Given the description of an element on the screen output the (x, y) to click on. 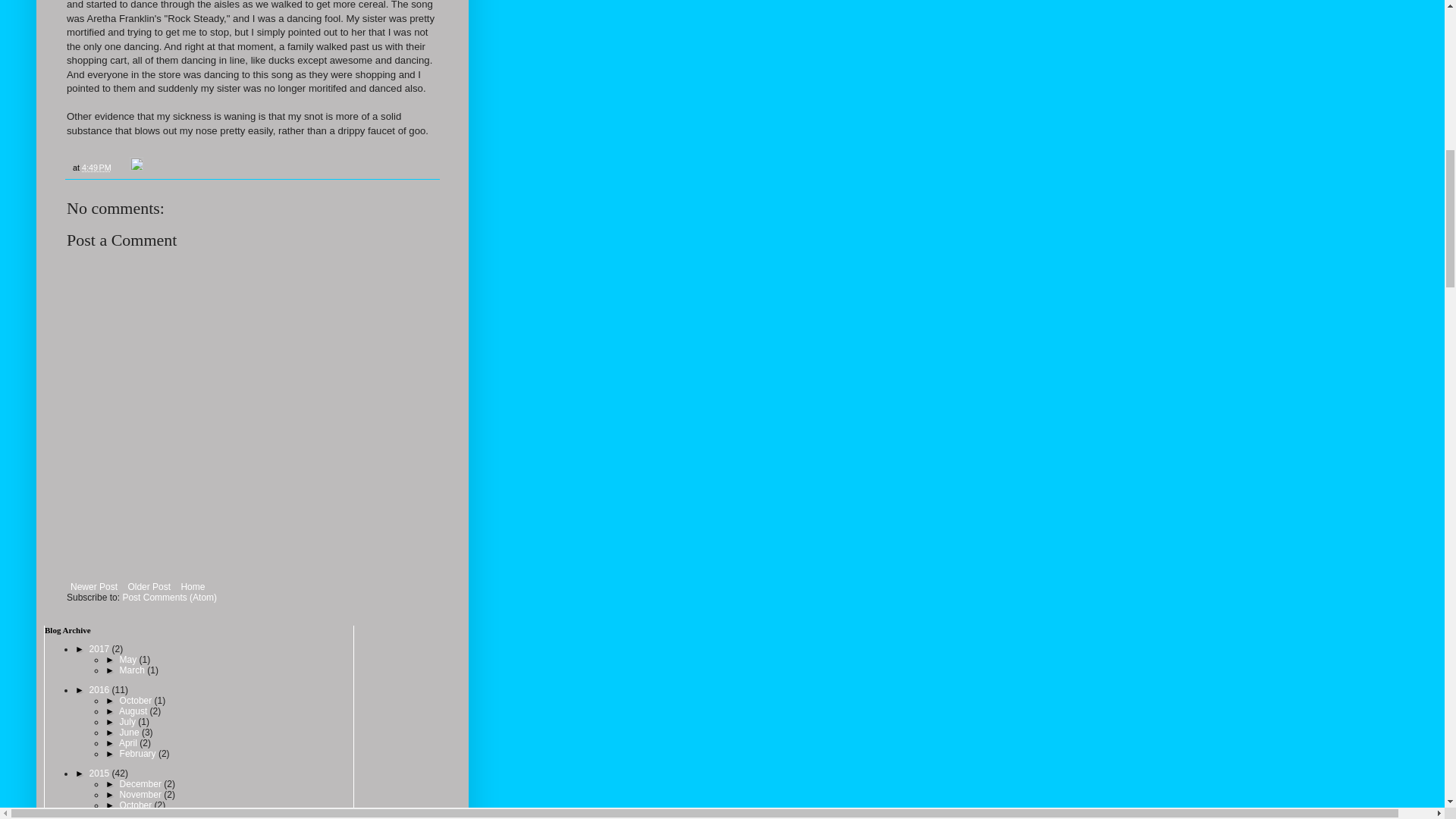
2016 (100, 689)
Older Post (148, 587)
2015 (100, 773)
June (130, 732)
Home (192, 587)
October (136, 700)
December (141, 783)
April (129, 742)
Newer Post (93, 587)
March (133, 670)
permanent link (96, 166)
November (141, 794)
Newer Post (93, 587)
Email Post (121, 166)
